Given the description of an element on the screen output the (x, y) to click on. 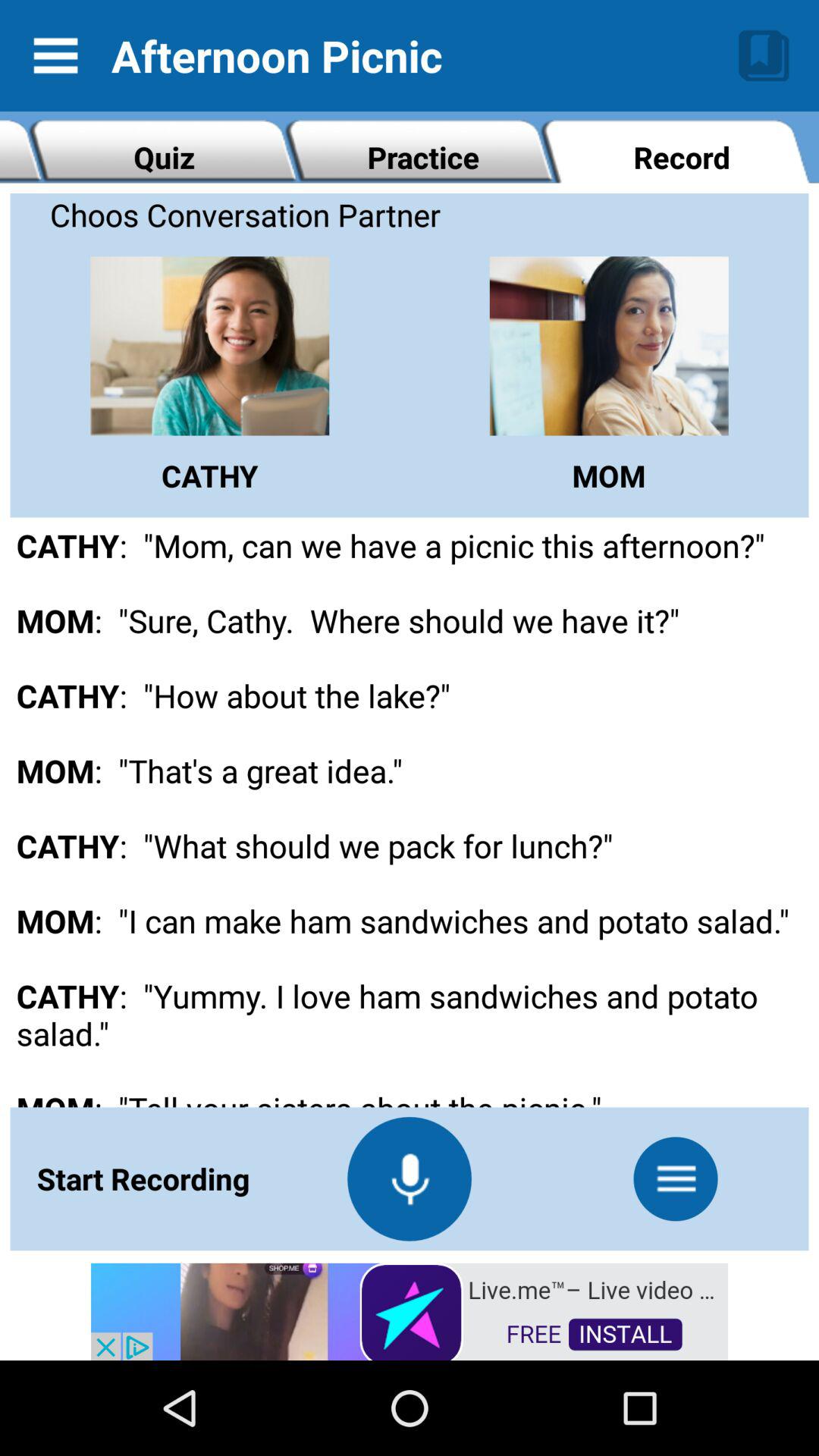
button to show various options (675, 1178)
